Given the description of an element on the screen output the (x, y) to click on. 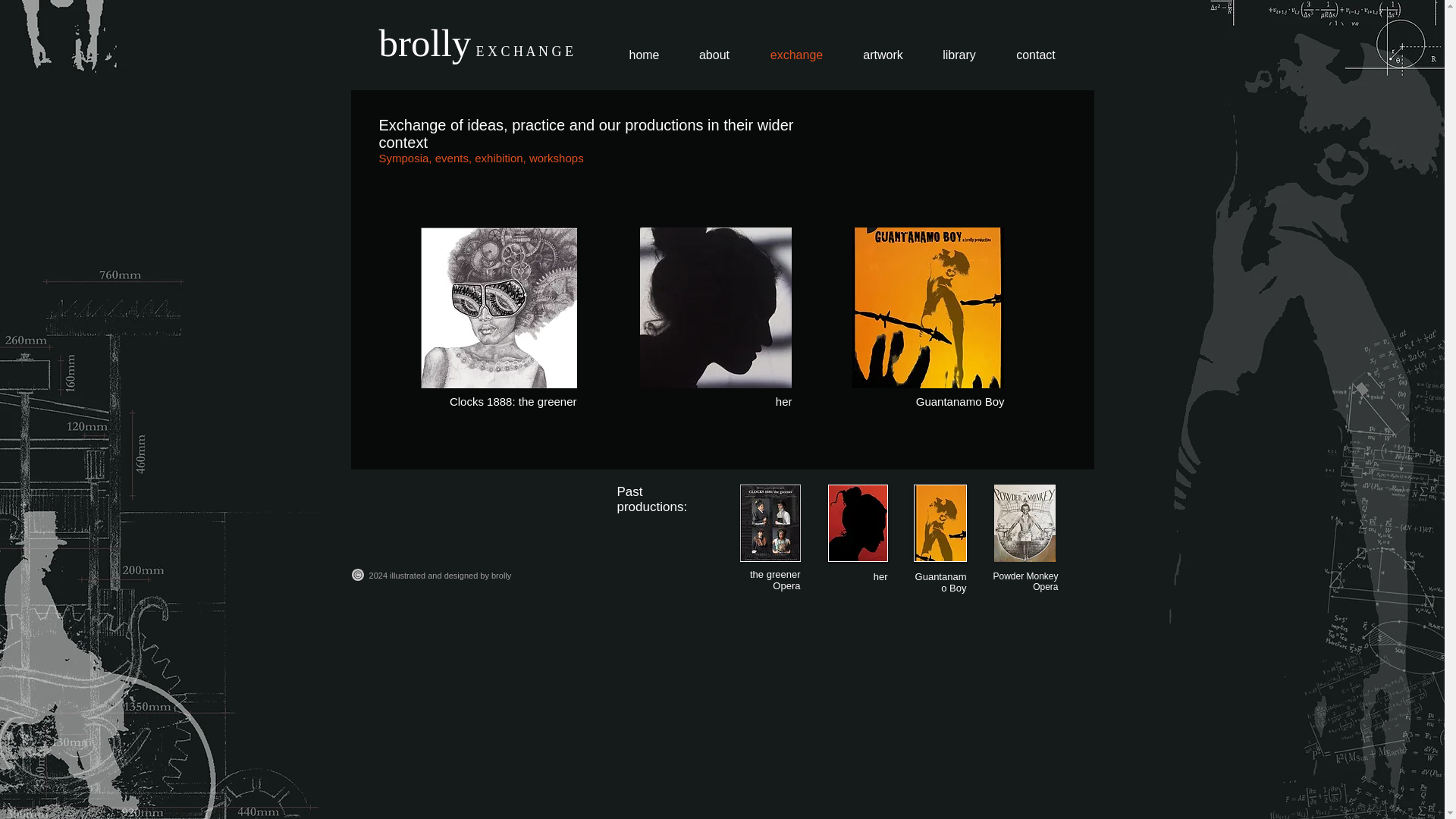
brolly (424, 49)
E X C H A N G E (524, 49)
home (644, 54)
contact (1035, 54)
about (714, 54)
exchange (796, 54)
artwork (882, 54)
library (958, 54)
